Given the description of an element on the screen output the (x, y) to click on. 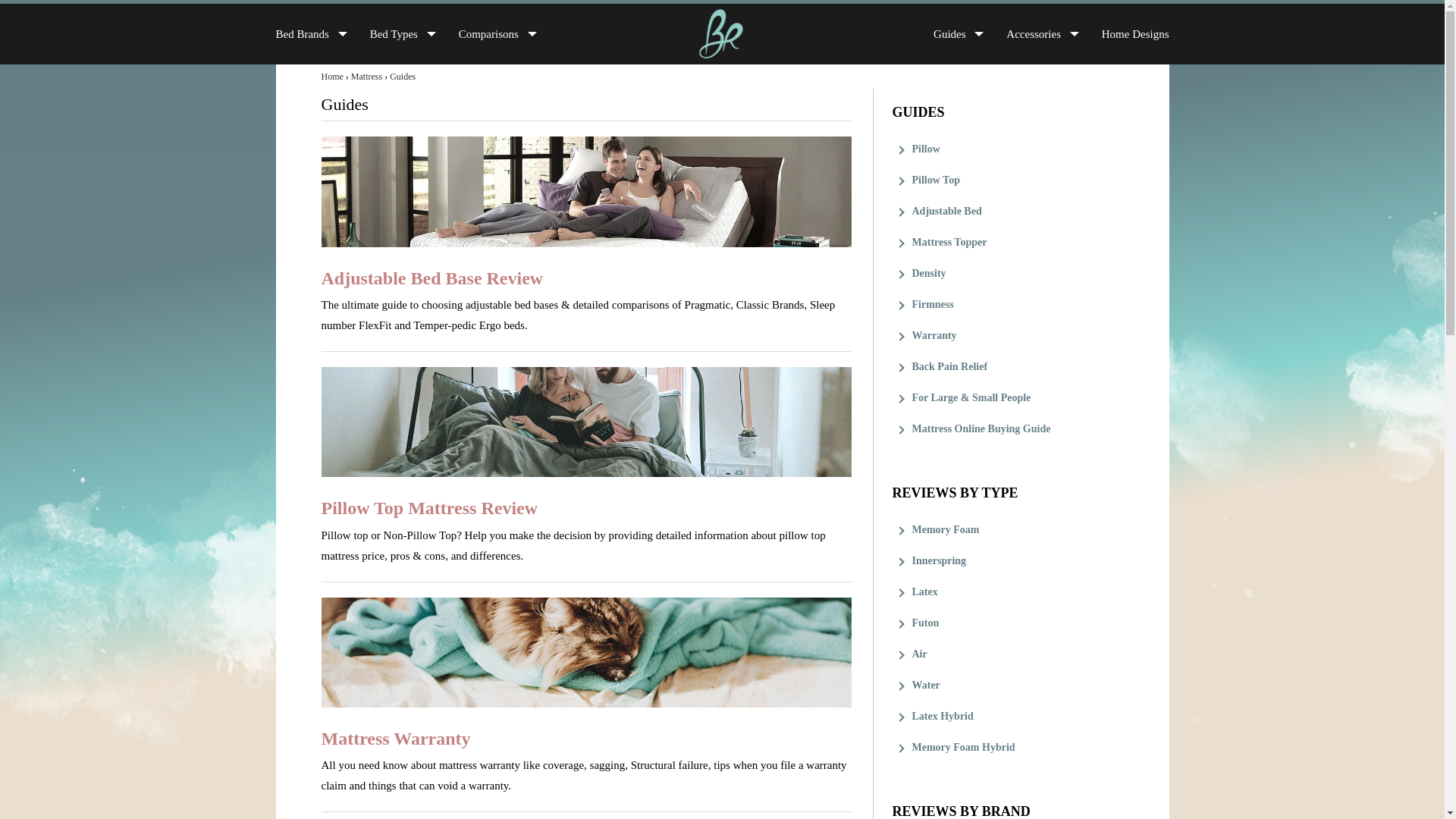
Bed Types (393, 33)
Bed Brands (302, 33)
